Given the description of an element on the screen output the (x, y) to click on. 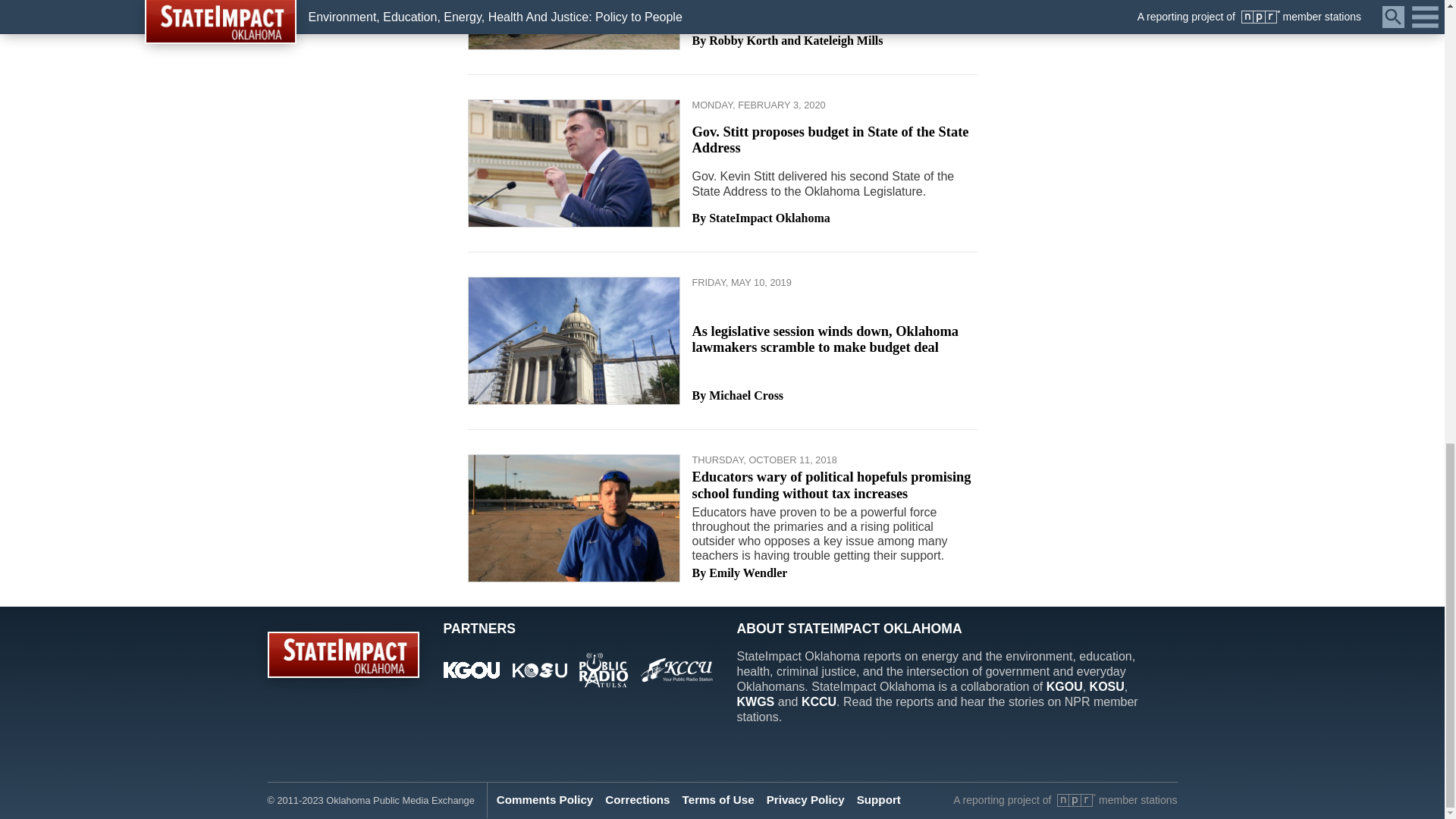
KWGS (755, 701)
Posts by Emily Wendler (748, 573)
Michael Cross (746, 396)
Gov. Stitt proposes budget in State of the State Address (829, 140)
KCCU (818, 701)
Posts by Kateleigh Mills (842, 41)
StateImpact Oklahoma (769, 218)
Robby Korth (743, 41)
